Given the description of an element on the screen output the (x, y) to click on. 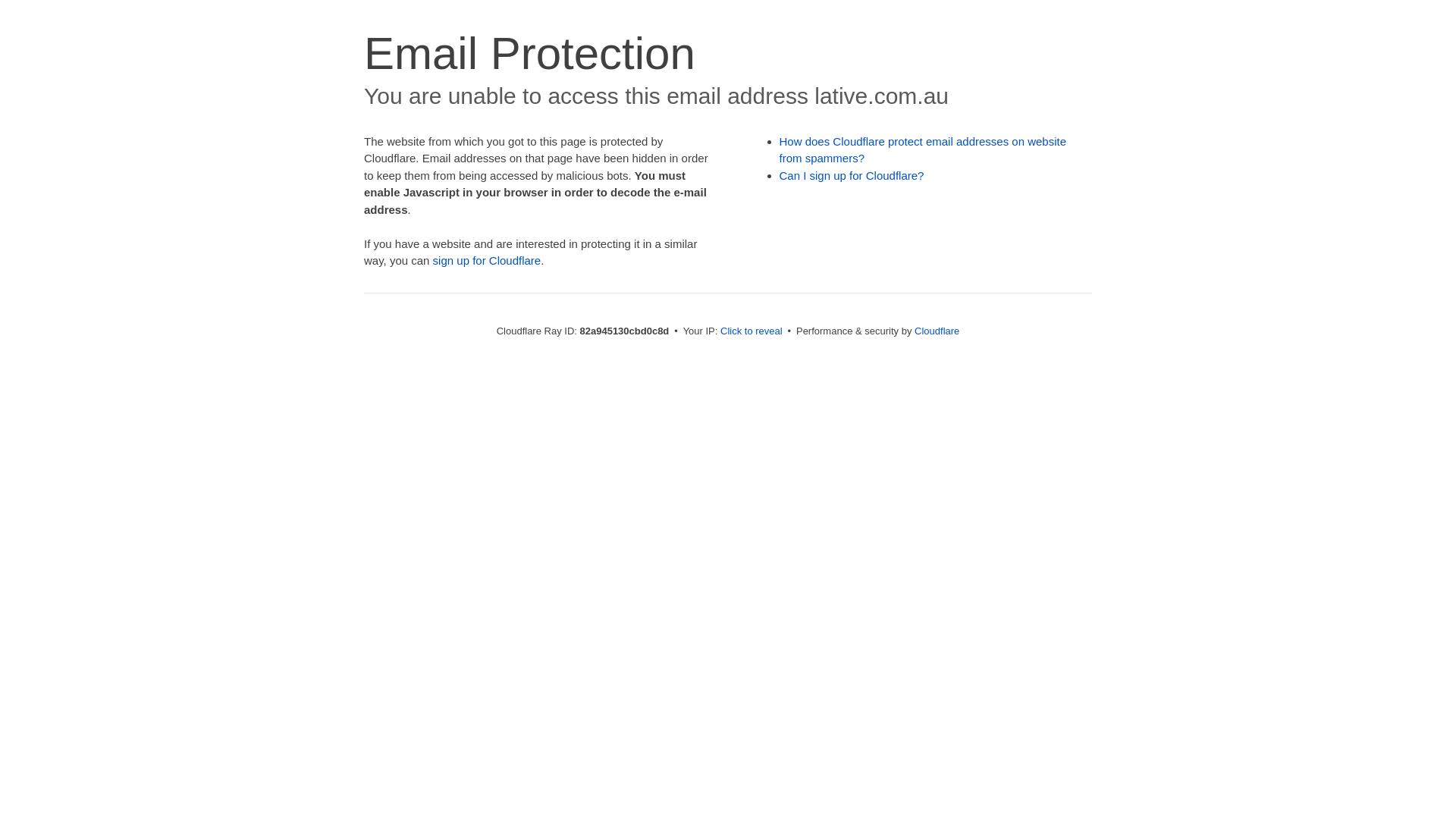
Click to reveal Element type: text (751, 330)
sign up for Cloudflare Element type: text (487, 260)
Can I sign up for Cloudflare? Element type: text (851, 175)
Cloudflare Element type: text (936, 330)
